Given the description of an element on the screen output the (x, y) to click on. 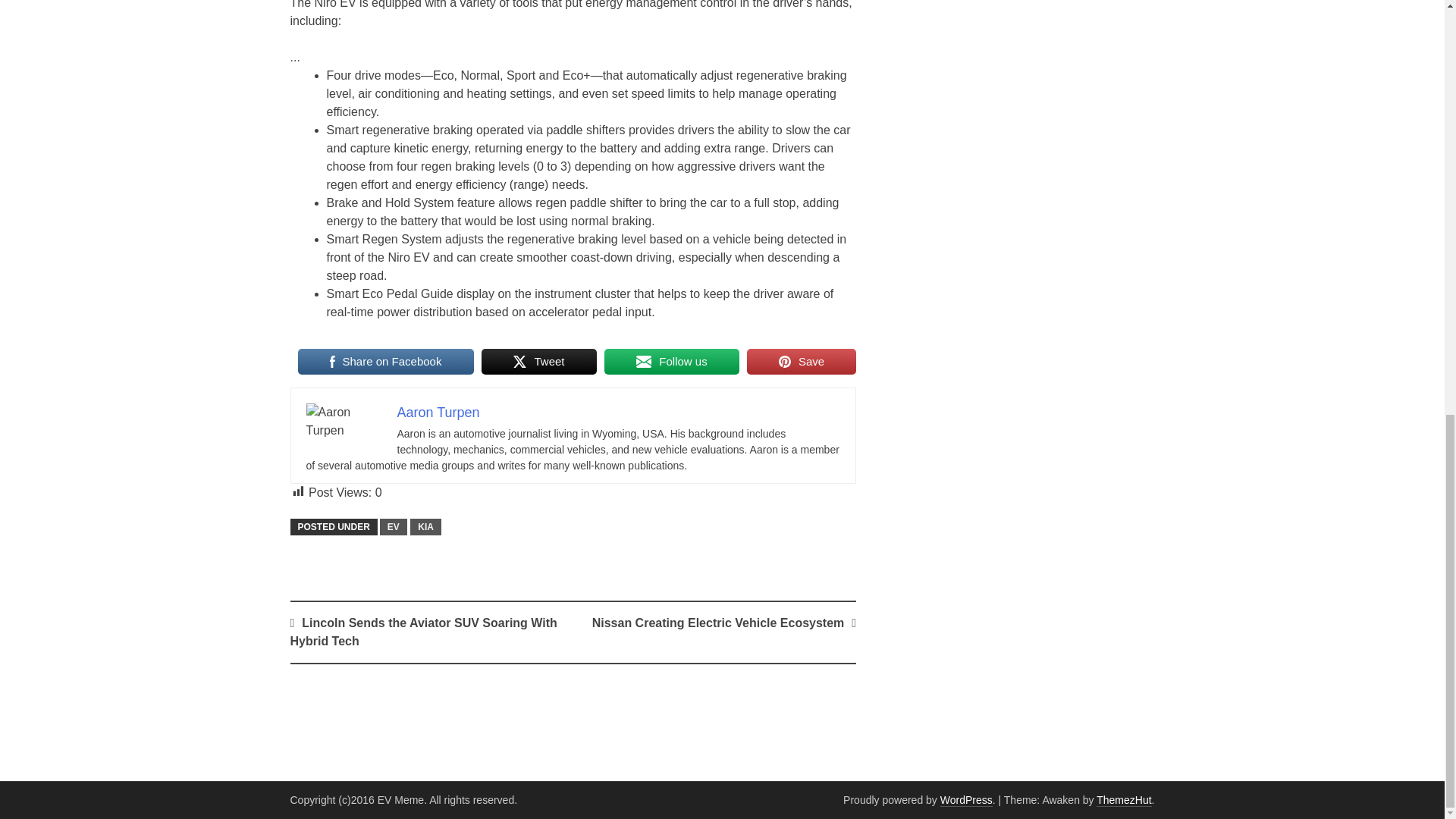
WordPress (966, 799)
EV (393, 526)
Nissan Creating Electric Vehicle Ecosystem (718, 622)
ThemezHut (1123, 799)
Lincoln Sends the Aviator SUV Soaring With Hybrid Tech (422, 631)
WordPress (966, 799)
Share on Facebook (385, 361)
Tweet (538, 361)
Save (801, 361)
Follow us (671, 361)
KIA (425, 526)
Aaron Turpen (438, 412)
